Given the description of an element on the screen output the (x, y) to click on. 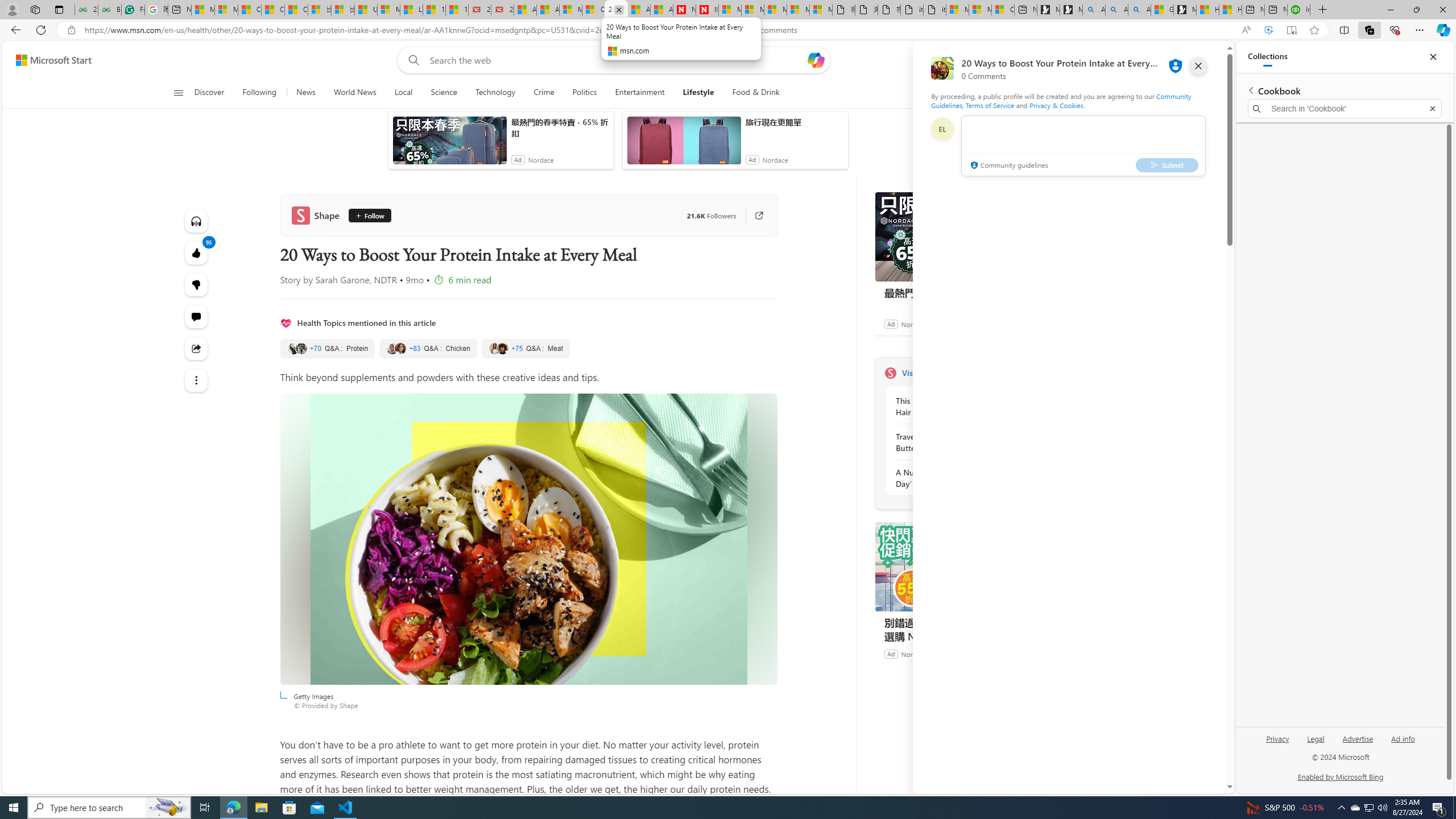
Community guidelines (1008, 165)
15 Ways Modern Life Contradicts the Teachings of Jesus (457, 9)
Visit Shape website (1031, 372)
Ad Choice (1032, 653)
USA TODAY - MSN (365, 9)
Listen to this article (196, 220)
Getty Images (528, 538)
20 Ways to Boost Your Protein Intake at Every Meal (615, 9)
Consumer Health Data Privacy Policy (1003, 9)
